Given the description of an element on the screen output the (x, y) to click on. 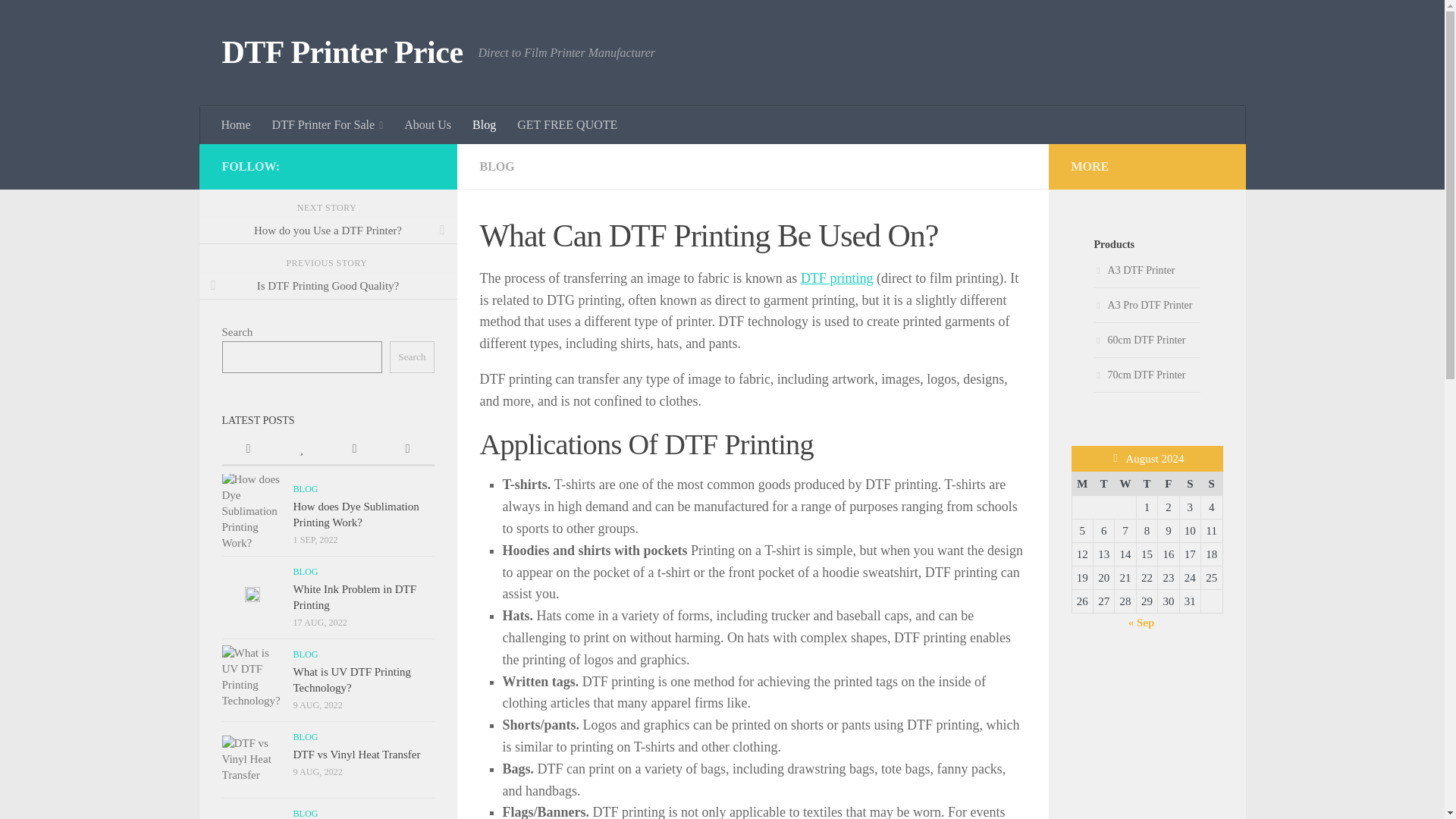
About Us (427, 125)
Recent Comments (353, 450)
DTF printing (836, 278)
Blog (483, 125)
Monday (1082, 483)
BLOG (496, 165)
Recent Posts (248, 450)
GET FREE QUOTE (566, 125)
Home (236, 125)
Skip to content (59, 20)
